Given the description of an element on the screen output the (x, y) to click on. 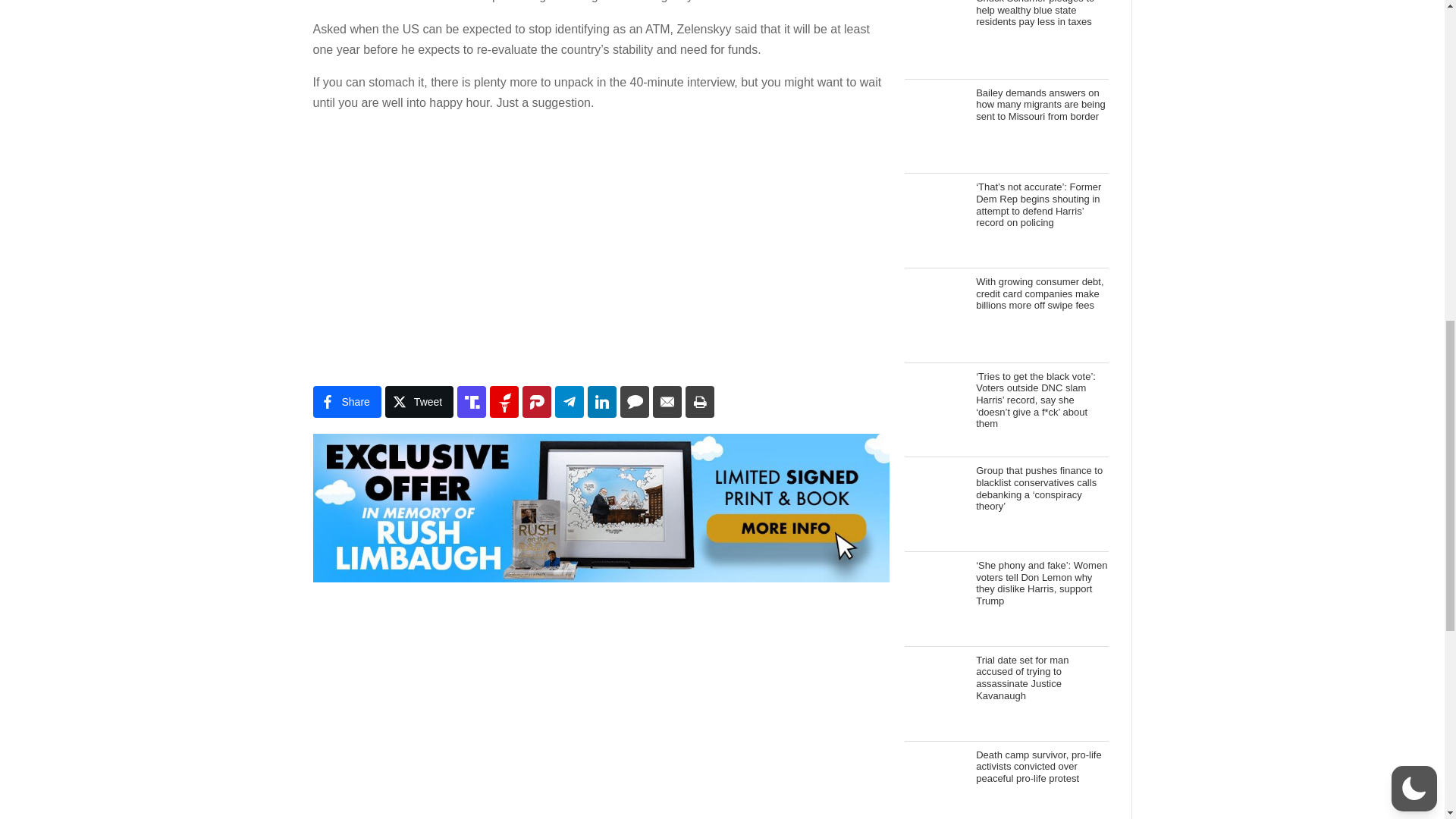
Tweet (418, 401)
YouTube video player (524, 244)
Share (346, 401)
